Given the description of an element on the screen output the (x, y) to click on. 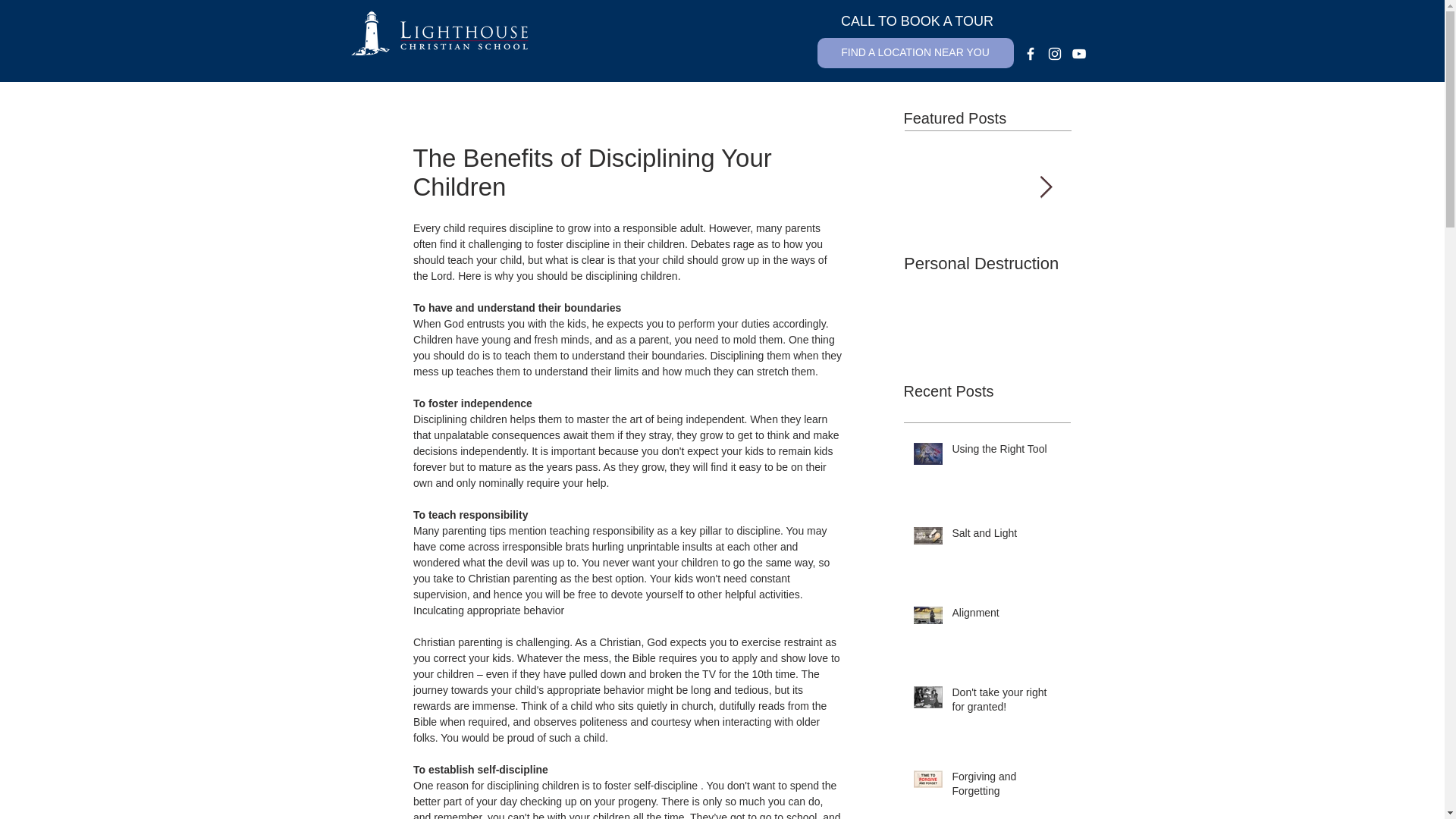
Don't take your right for granted! (1006, 703)
FIND A LOCATION NEAR YOU (914, 52)
Salt and Light (1006, 536)
Forgiving and Forgetting (1006, 787)
Bucking the System (1153, 263)
Personal Destruction (987, 263)
Alignment (1006, 616)
Using the Right Tool (1006, 452)
